Given the description of an element on the screen output the (x, y) to click on. 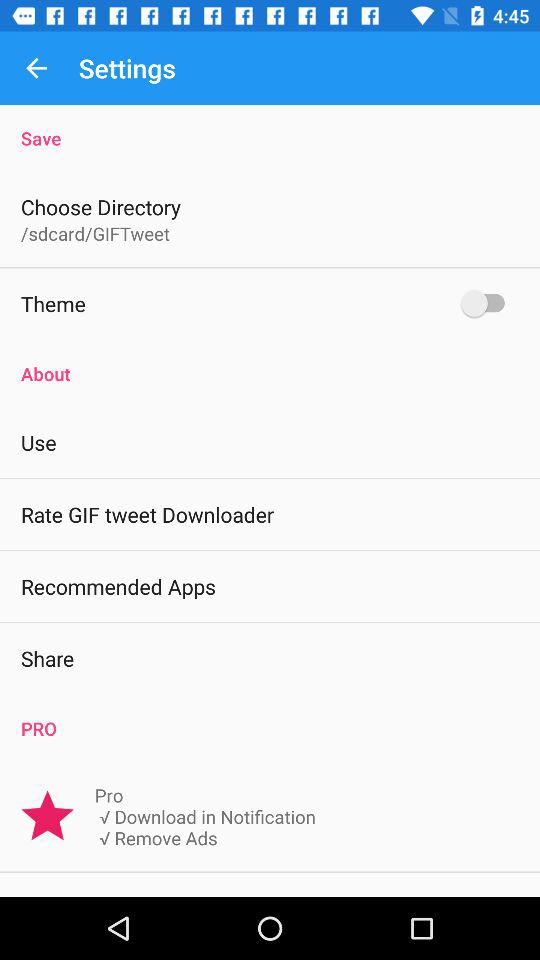
turn off item above the save (36, 68)
